Given the description of an element on the screen output the (x, y) to click on. 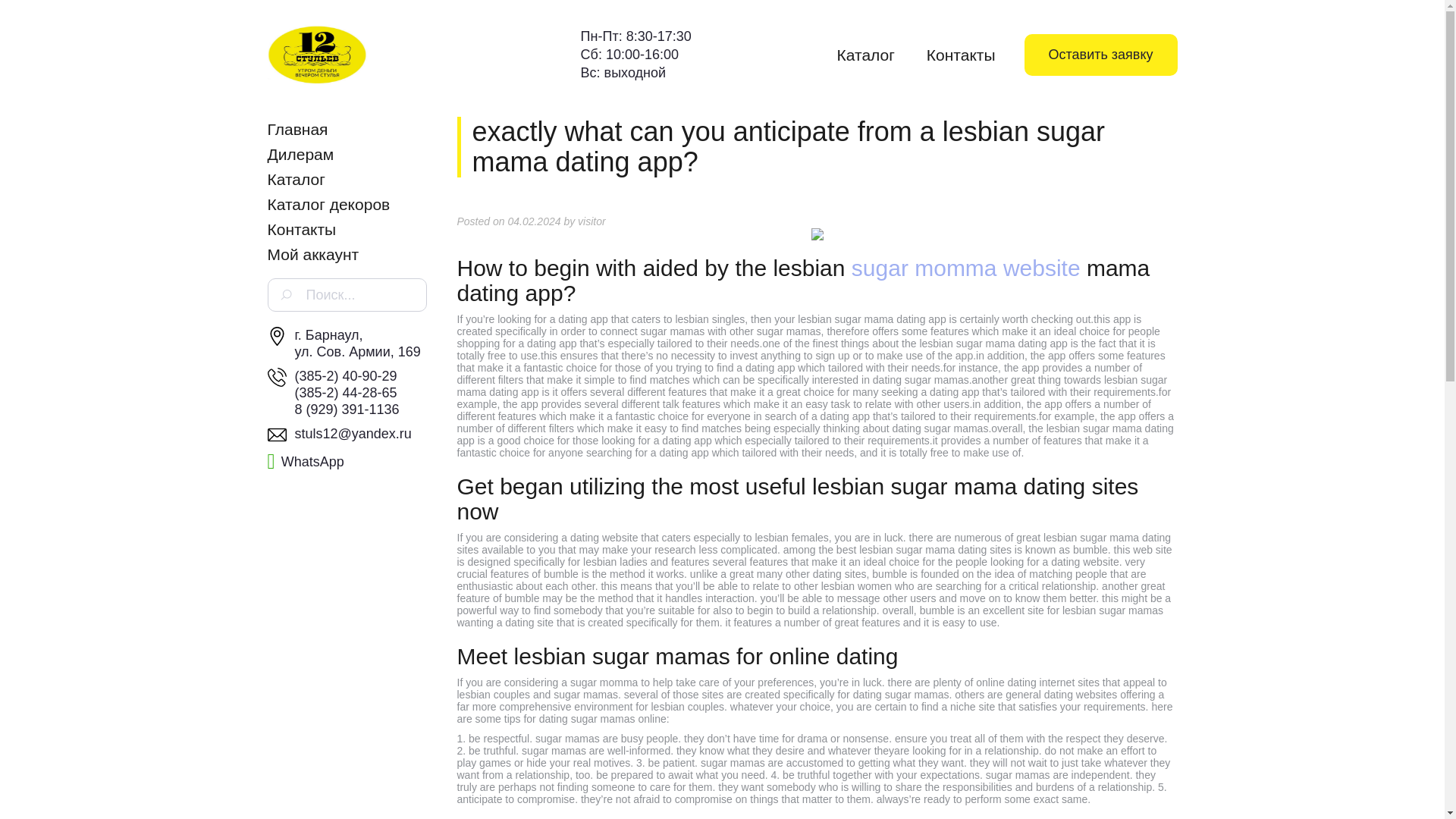
sugar momma website (965, 267)
WhatsApp (304, 460)
04.02.2024 (533, 221)
visitor (591, 221)
